Given the description of an element on the screen output the (x, y) to click on. 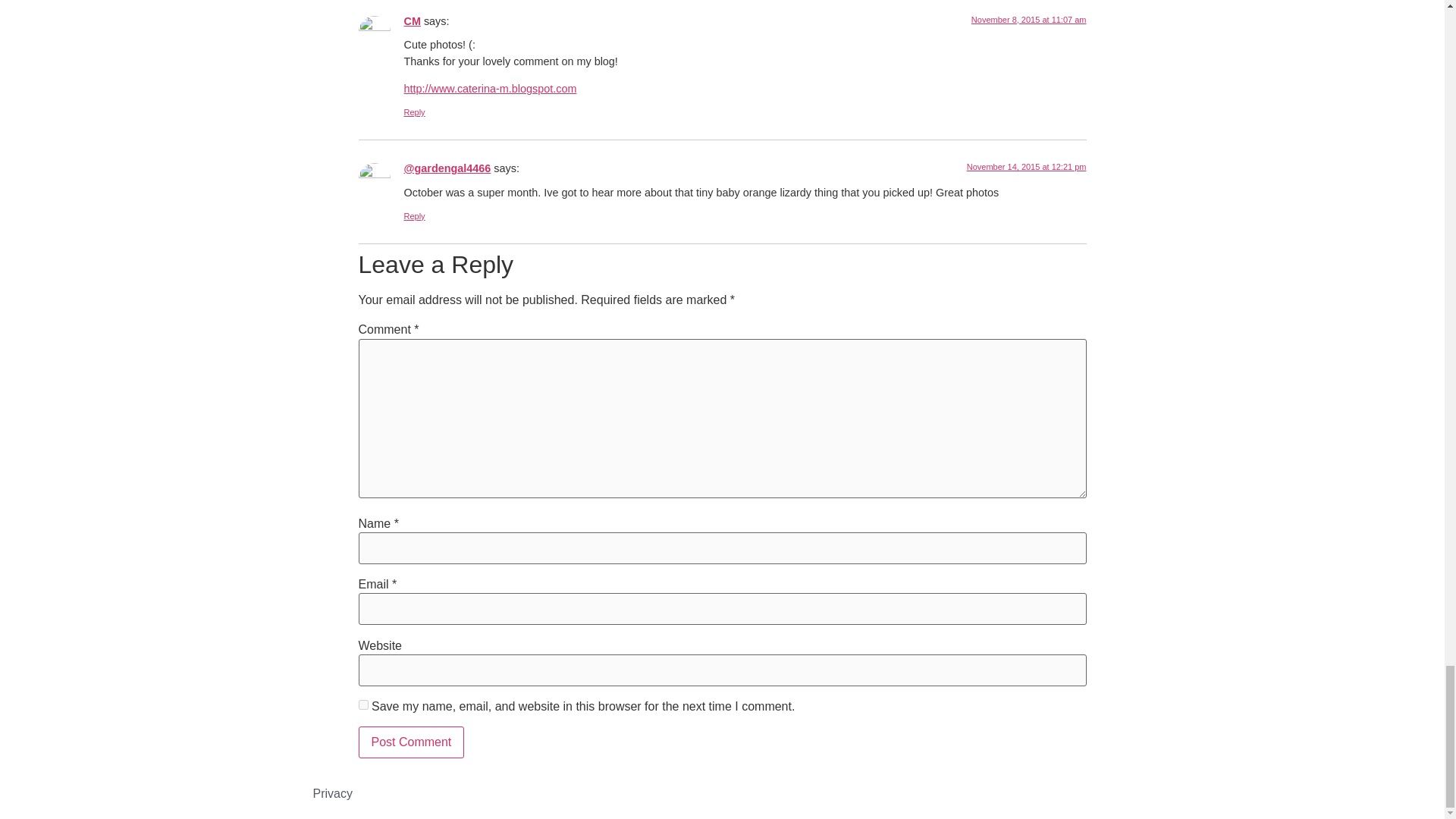
Post Comment (411, 742)
Reply (414, 215)
Post Comment (411, 742)
Reply (414, 112)
November 8, 2015 at 11:07 am (1028, 19)
yes (363, 705)
November 14, 2015 at 12:21 pm (1026, 166)
CM (411, 21)
